Given the description of an element on the screen output the (x, y) to click on. 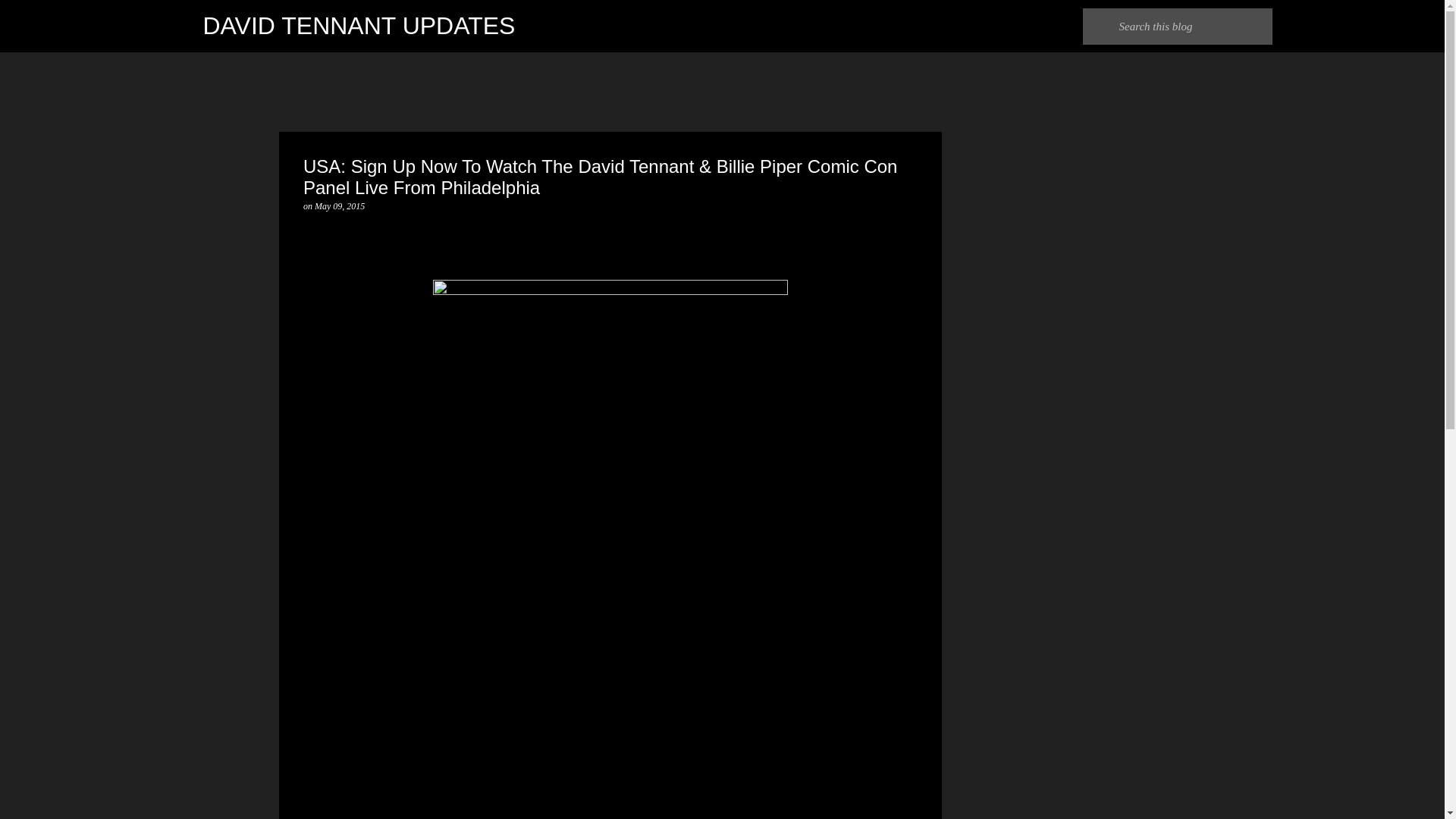
permanent link (339, 205)
May 09, 2015 (339, 205)
DAVID TENNANT UPDATES (359, 25)
